Given the description of an element on the screen output the (x, y) to click on. 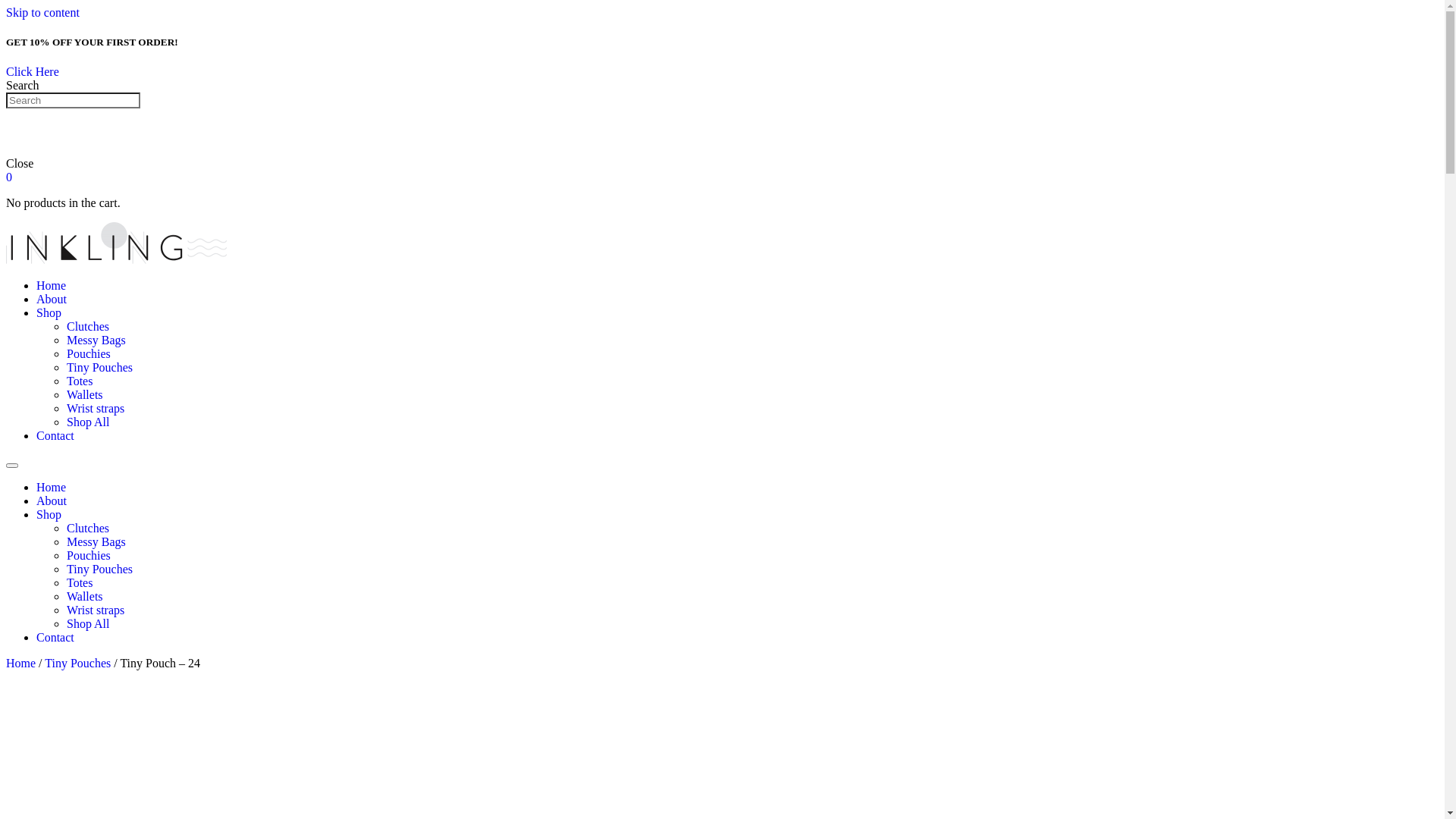
Wrist straps Element type: text (95, 609)
Totes Element type: text (79, 582)
Tiny Pouches Element type: text (99, 366)
Messy Bags Element type: text (95, 541)
Wallets Element type: text (84, 394)
Wrist straps Element type: text (95, 407)
Contact Element type: text (55, 636)
Pouchies Element type: text (88, 353)
Home Element type: text (50, 486)
Skip to content Element type: text (42, 12)
Pouchies Element type: text (88, 555)
Tiny Pouches Element type: text (77, 662)
0 Element type: text (9, 176)
Shop All Element type: text (87, 421)
Shop All Element type: text (87, 623)
inkling-logo Element type: hover (116, 242)
Messy Bags Element type: text (95, 339)
Clutches Element type: text (87, 326)
Clutches Element type: text (87, 527)
Click Here Element type: text (32, 71)
Wallets Element type: text (84, 595)
Shop Element type: text (48, 312)
Search Element type: hover (73, 100)
Shop Element type: text (48, 514)
About Element type: text (51, 500)
Home Element type: text (50, 285)
Tiny Pouches Element type: text (99, 568)
Totes Element type: text (79, 380)
About Element type: text (51, 298)
Home Element type: text (20, 662)
Contact Element type: text (55, 435)
